Given the description of an element on the screen output the (x, y) to click on. 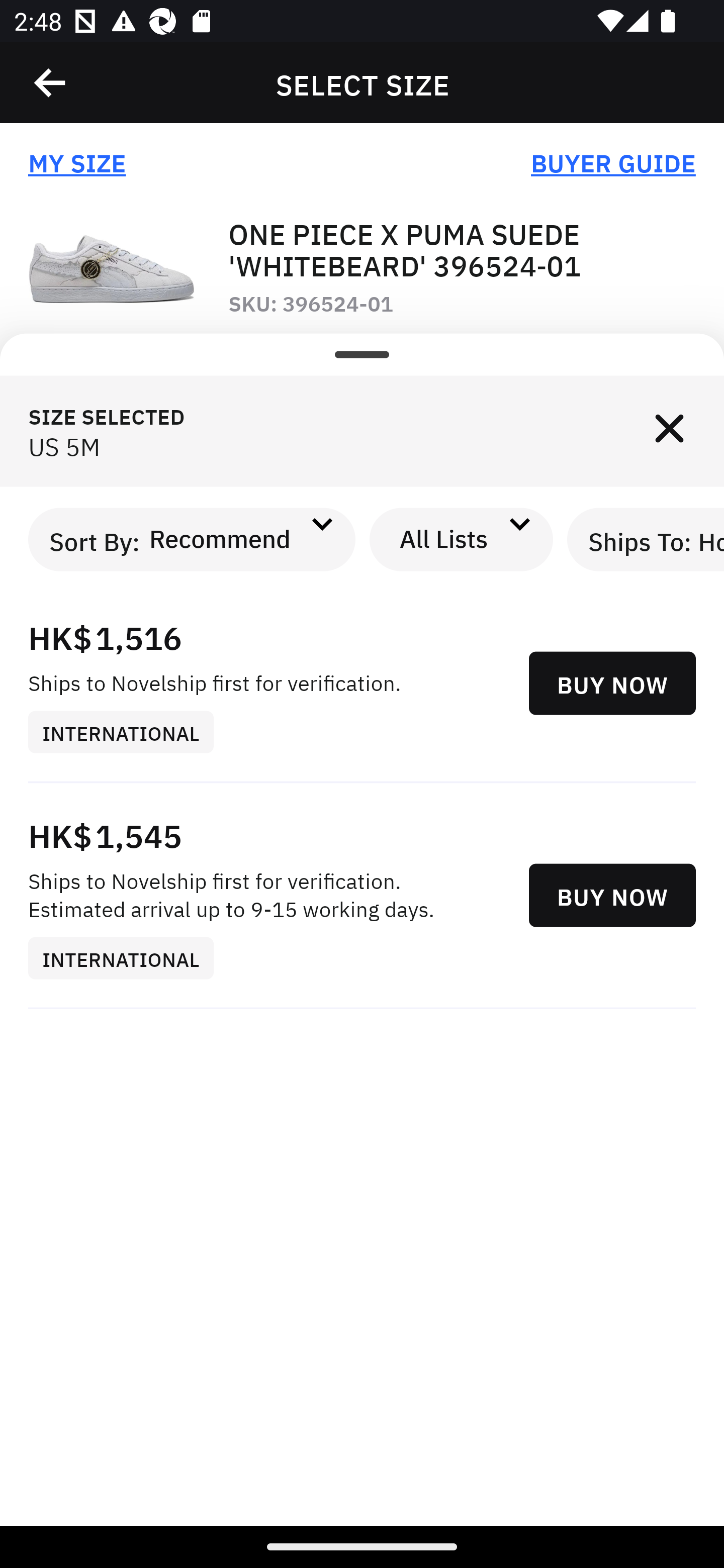
 (50, 83)
 (668, 430)
Recommend  (237, 539)
All Lists  (461, 539)
Ships To: Hong Kong (645, 539)
BUY NOW (612, 683)
INTERNATIONAL (128, 731)
BUY NOW (612, 894)
INTERNATIONAL (128, 958)
